Given the description of an element on the screen output the (x, y) to click on. 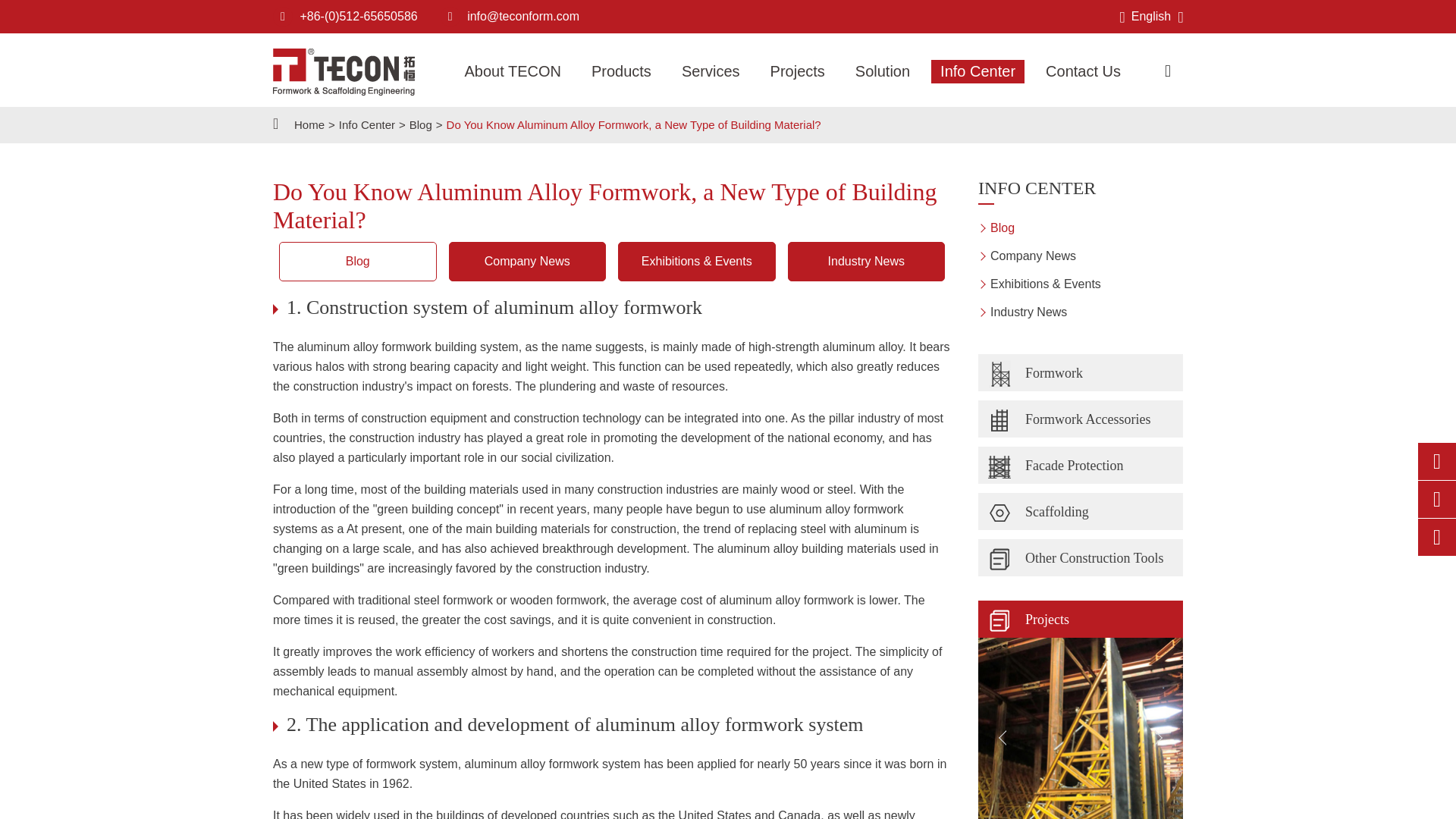
Blog (420, 124)
Products (621, 71)
Suzhou TECON Construction Technology Co., Ltd (343, 71)
Info Center (366, 124)
About TECON (511, 71)
English (1150, 16)
